Given the description of an element on the screen output the (x, y) to click on. 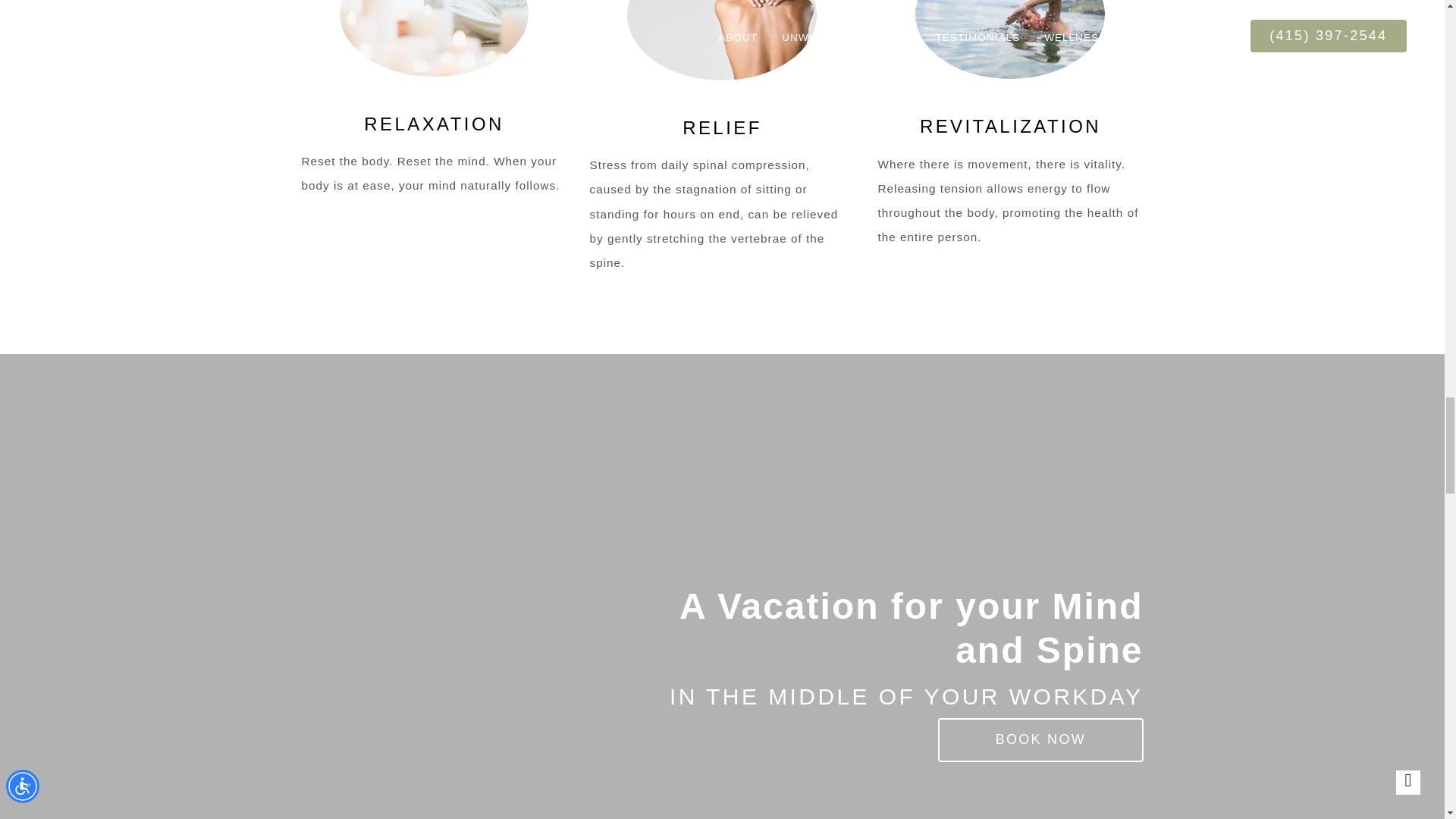
BOOK NOW (1039, 739)
